Given the description of an element on the screen output the (x, y) to click on. 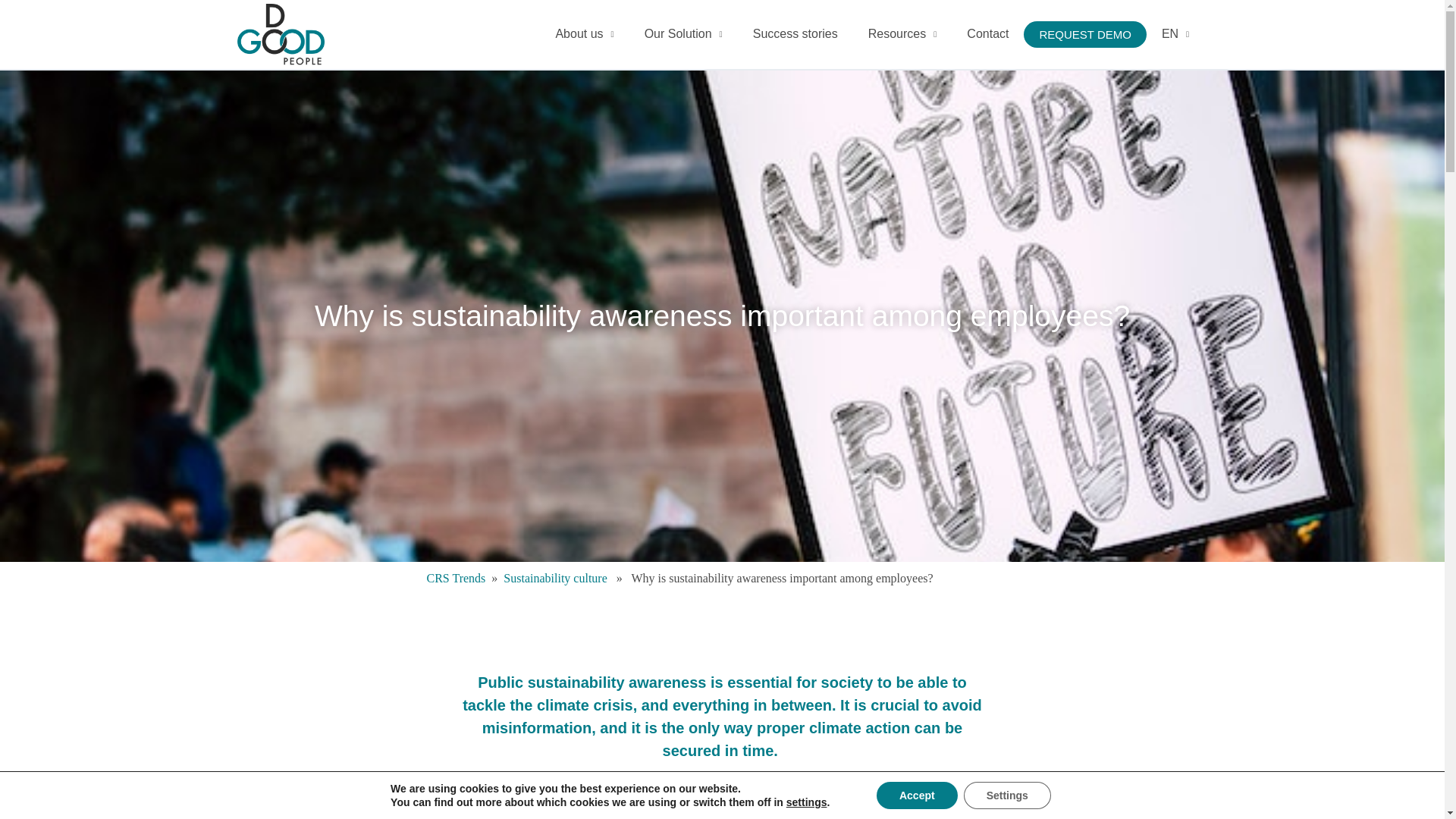
Our Solution (683, 34)
REQUEST DEMO (1084, 34)
Success stories (795, 34)
EN (1175, 34)
EN (1175, 34)
Resources (902, 34)
Contact (987, 34)
Logo-DoGood-people (279, 34)
About us (584, 34)
